Given the description of an element on the screen output the (x, y) to click on. 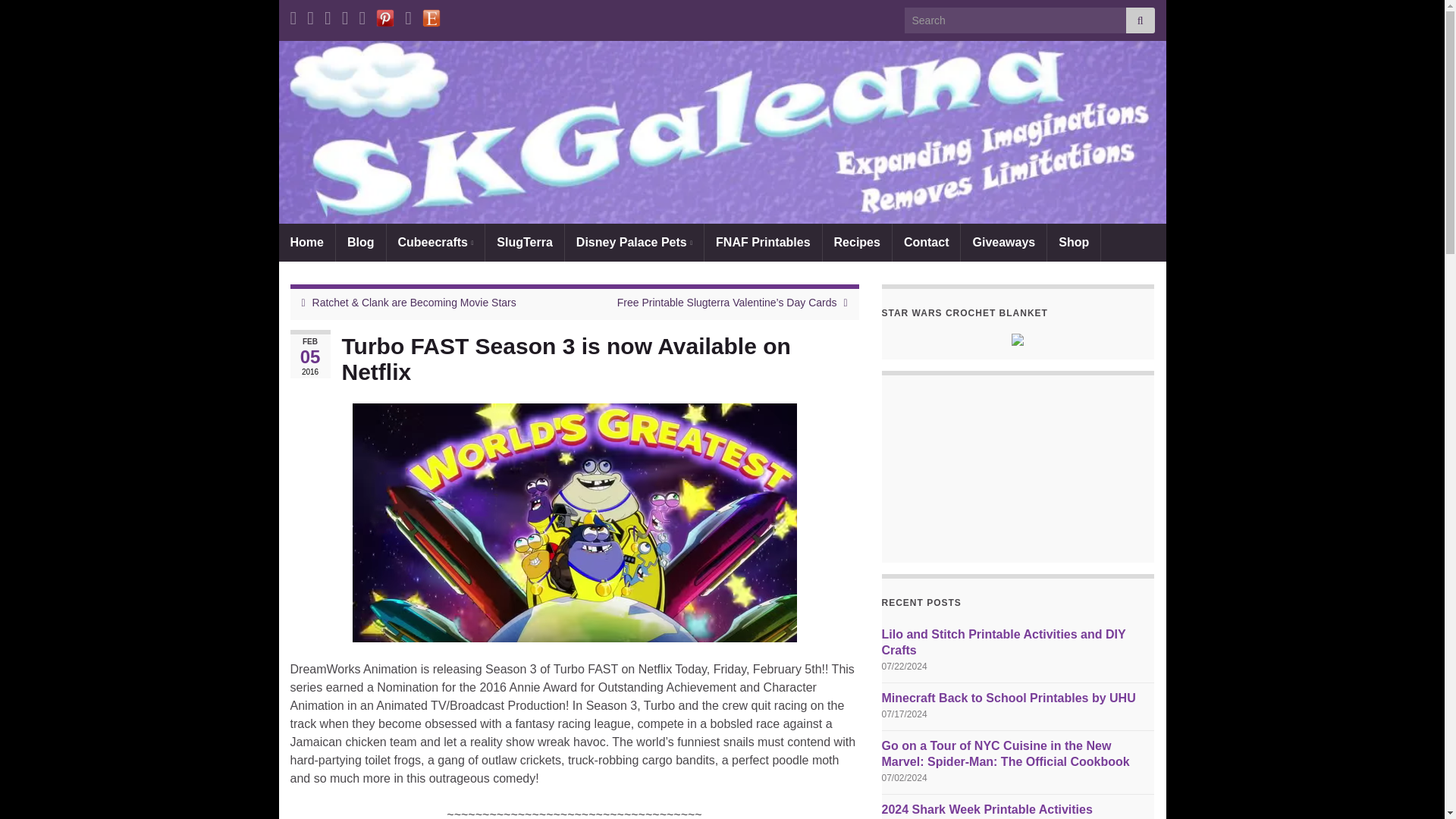
Home (306, 242)
SlugTerra (524, 242)
Blog (360, 242)
Pintrest (384, 15)
Disney Palace Pets (633, 242)
Cubeecrafts (435, 242)
